Given the description of an element on the screen output the (x, y) to click on. 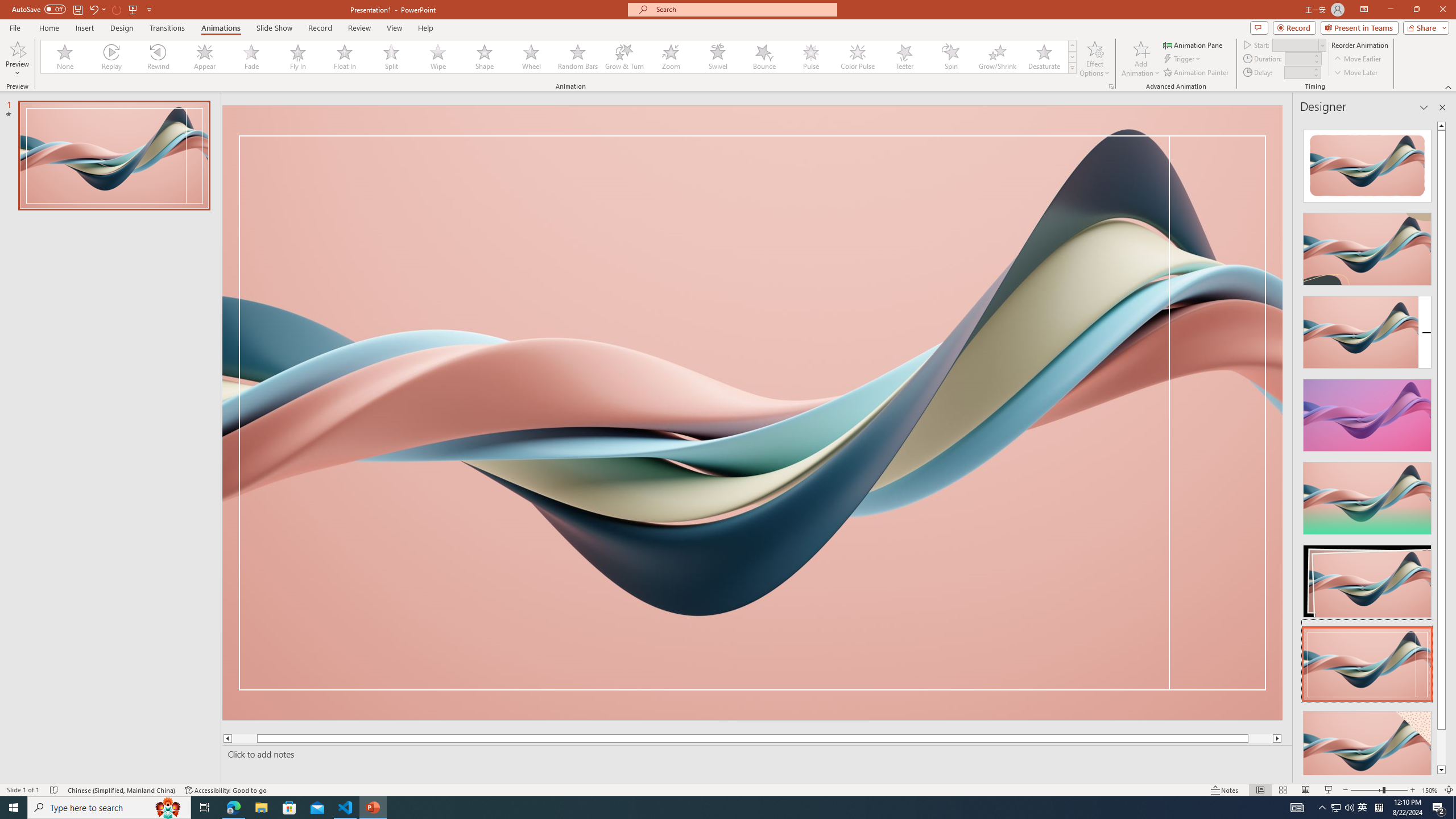
Animation Pane (1193, 44)
Animation Painter (1196, 72)
More Options... (1110, 85)
Rewind (158, 56)
Replay (111, 56)
